Given the description of an element on the screen output the (x, y) to click on. 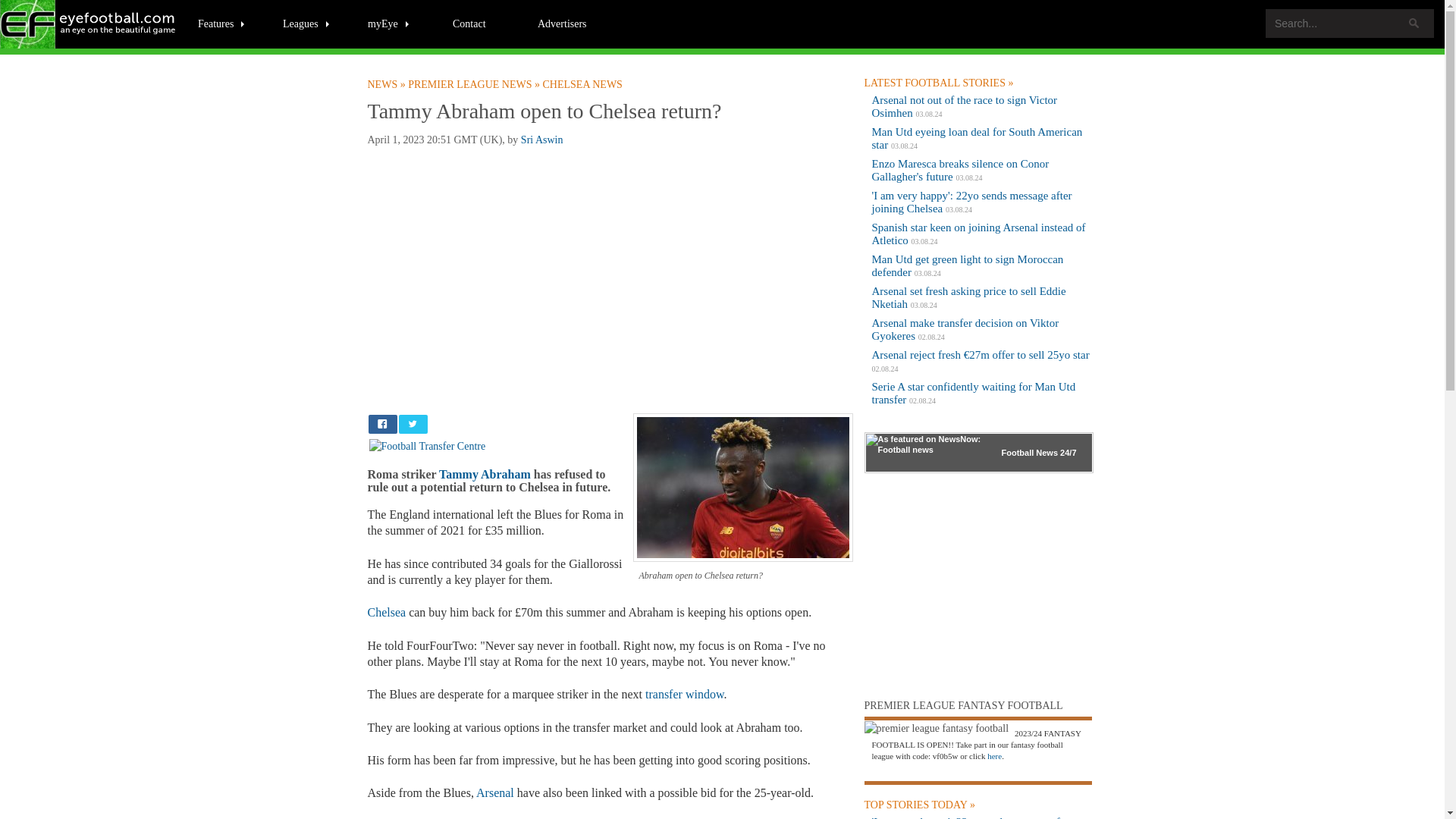
Chelsea (386, 612)
Search... (1349, 23)
Football News (88, 24)
Features (221, 23)
Search (1414, 22)
Football News (386, 84)
Top (1407, 805)
transfer window (684, 694)
Search (1414, 22)
Advertisers (561, 23)
Leagues (306, 23)
myEye (389, 23)
Arsenal (494, 792)
Sri Aswin (542, 139)
Premier League news (474, 84)
